Given the description of an element on the screen output the (x, y) to click on. 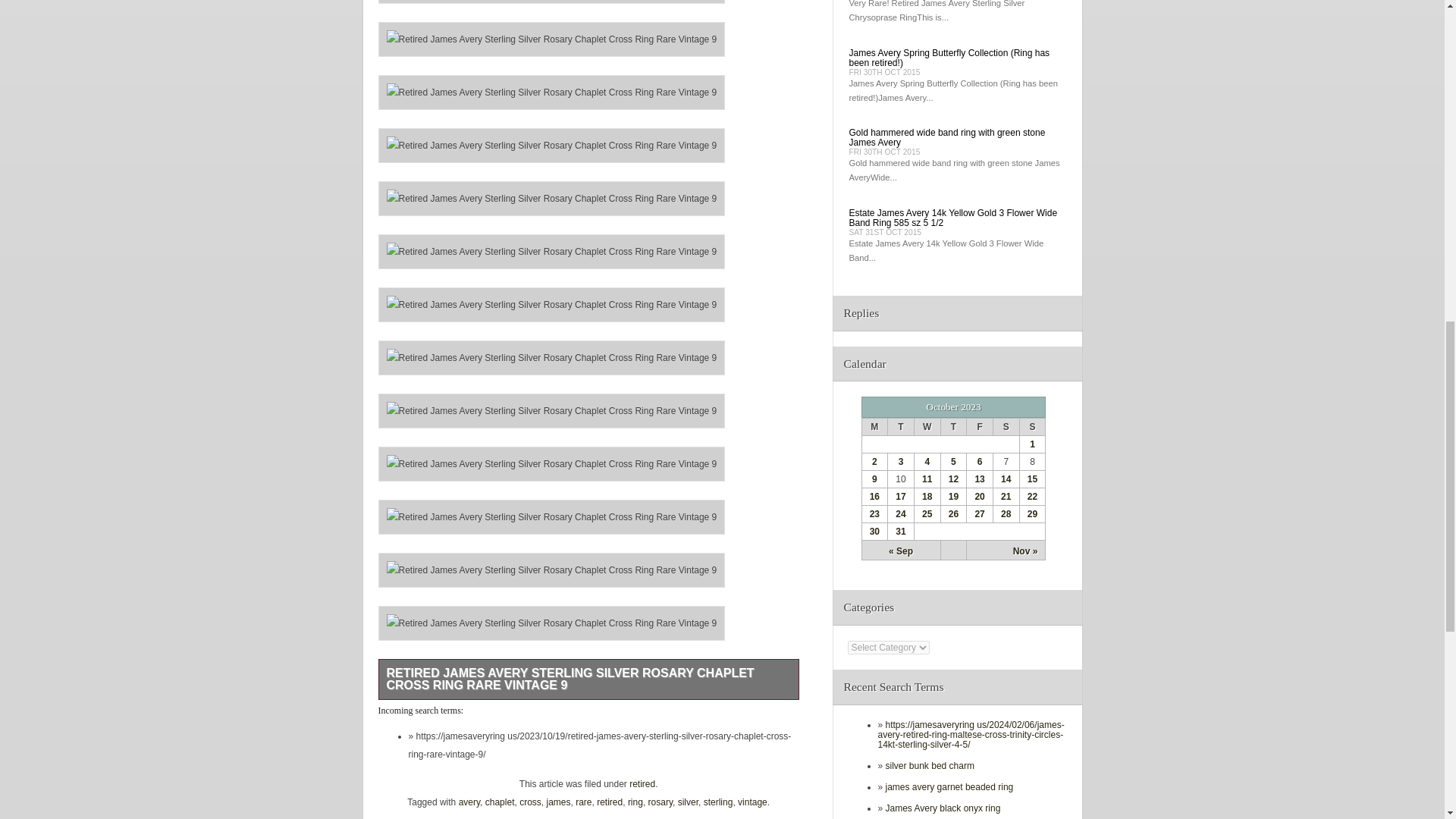
chaplet (499, 801)
sterling (718, 801)
rare (583, 801)
rosary (659, 801)
james (558, 801)
ring (635, 801)
retired (609, 801)
Gold hammered wide band ring with green stone James Avery (946, 137)
vintage (752, 801)
